Given the description of an element on the screen output the (x, y) to click on. 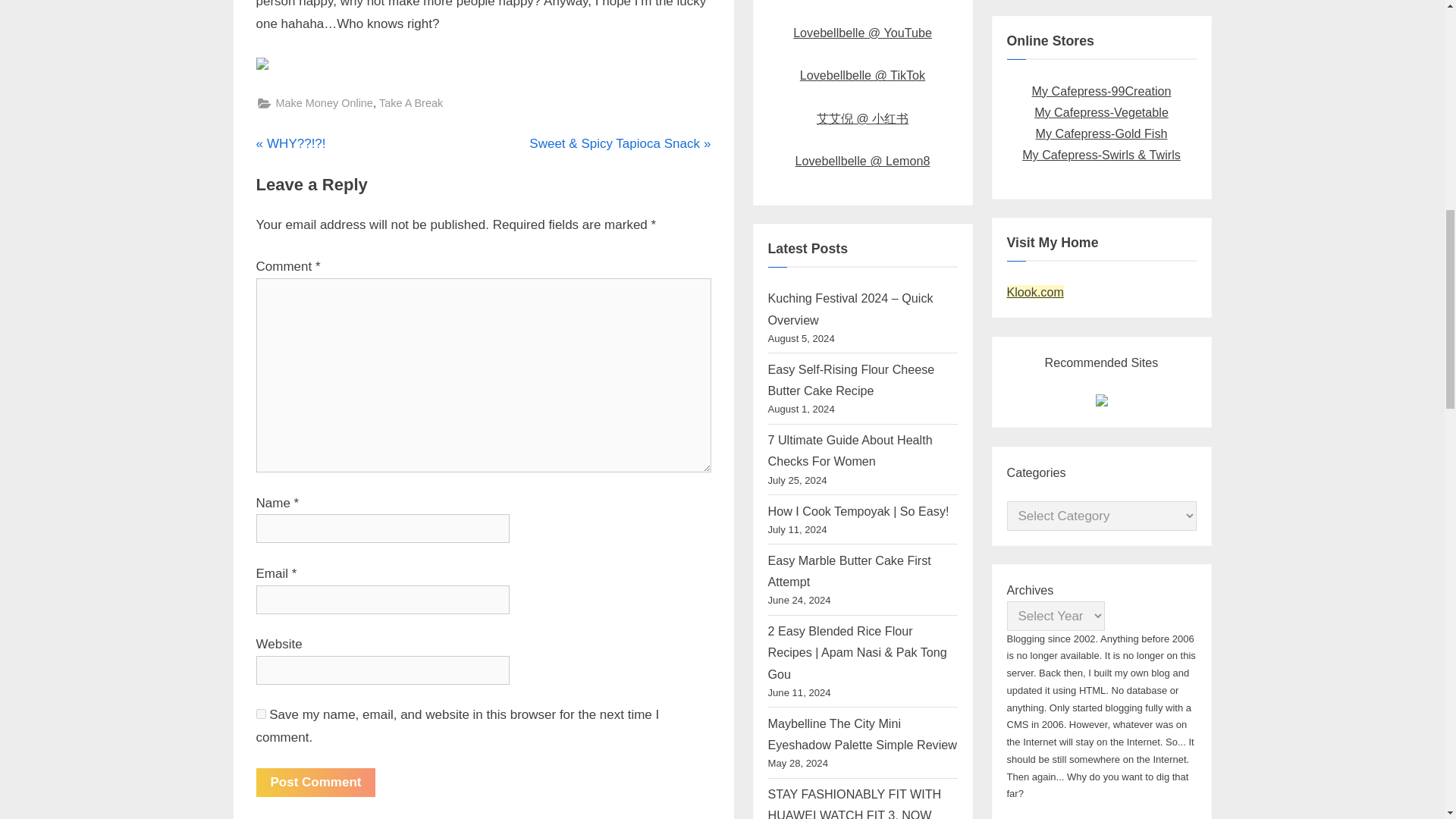
yes (261, 714)
Post Comment (315, 782)
Take A Break (410, 103)
Make Money Online (291, 143)
Post Comment (324, 103)
